Given the description of an element on the screen output the (x, y) to click on. 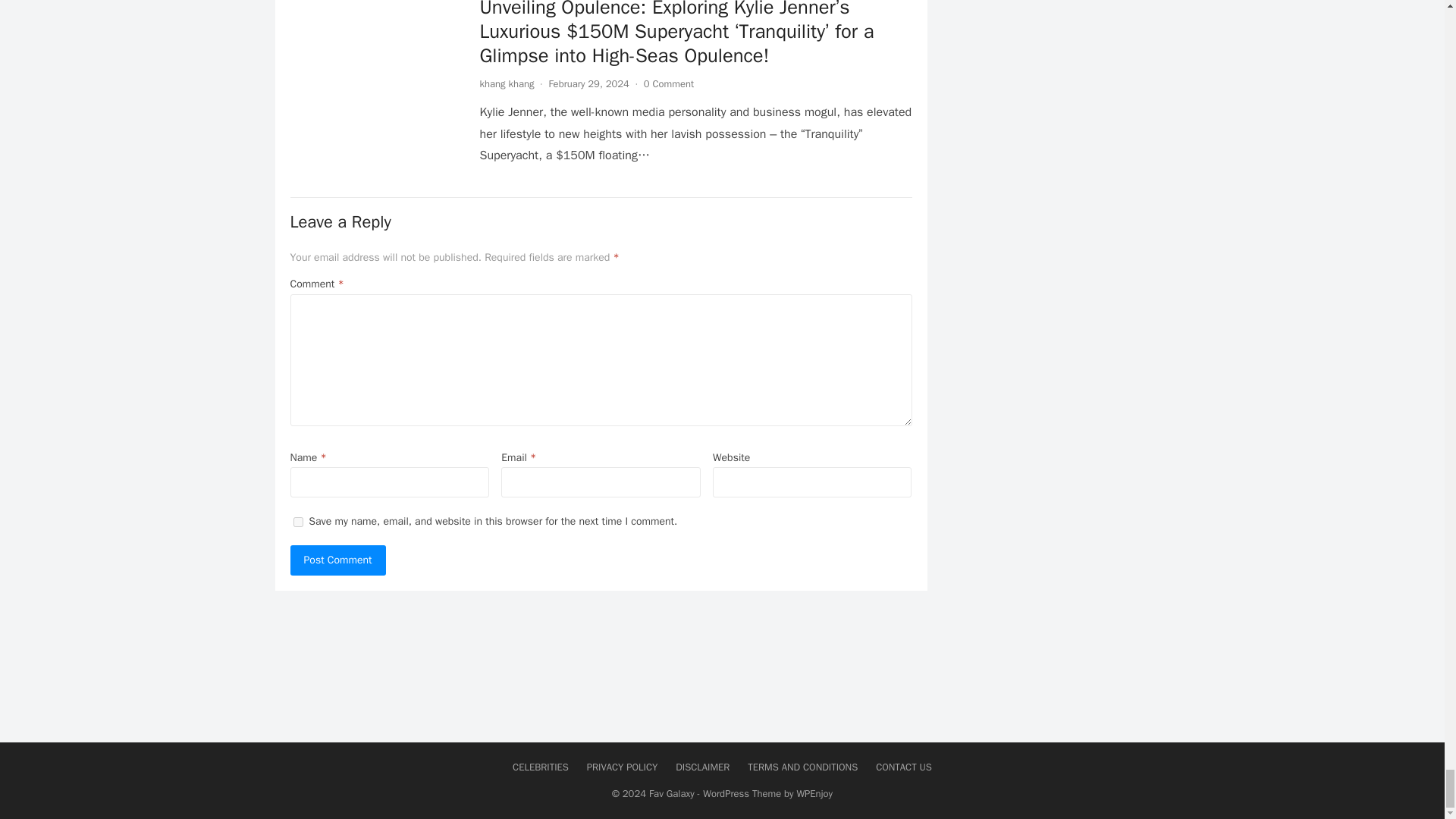
yes (297, 521)
Post Comment (337, 560)
Posts by khang khang (506, 83)
